Given the description of an element on the screen output the (x, y) to click on. 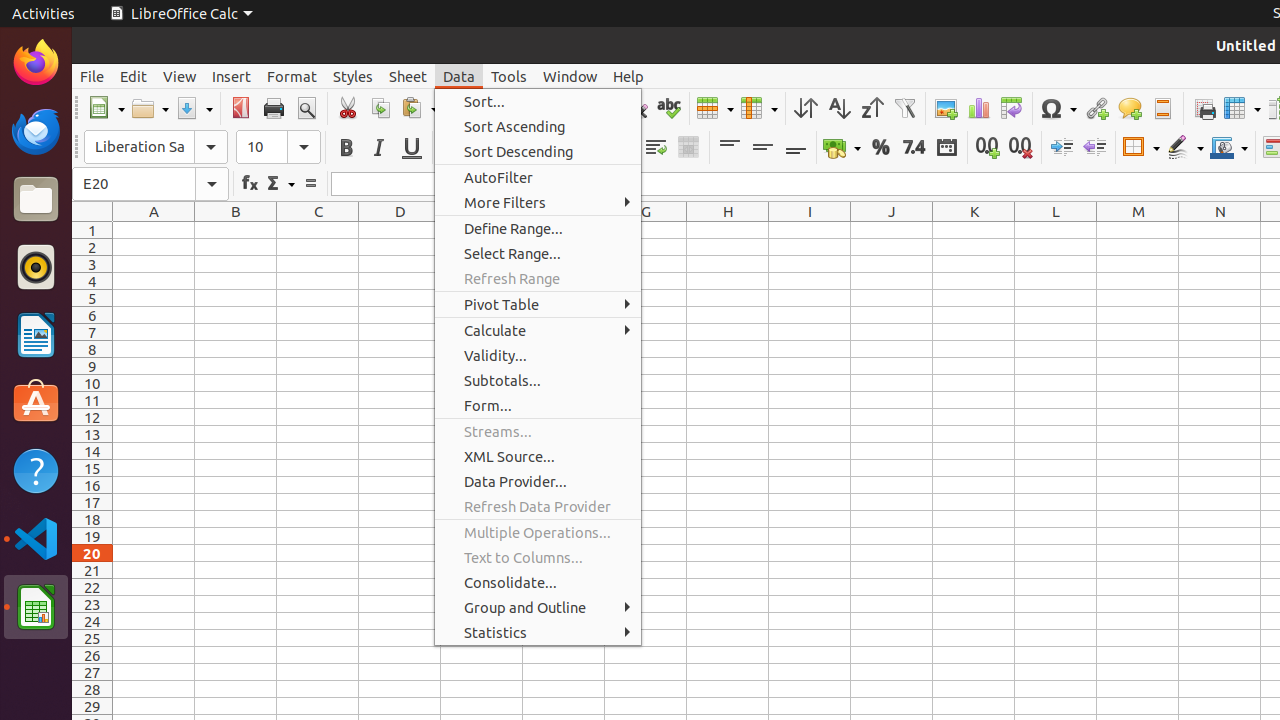
Refresh Range Element type: menu-item (538, 278)
Pivot Table Element type: menu (538, 304)
A1 Element type: table-cell (154, 230)
Underline Element type: push-button (411, 147)
XML Source... Element type: menu-item (538, 456)
